Given the description of an element on the screen output the (x, y) to click on. 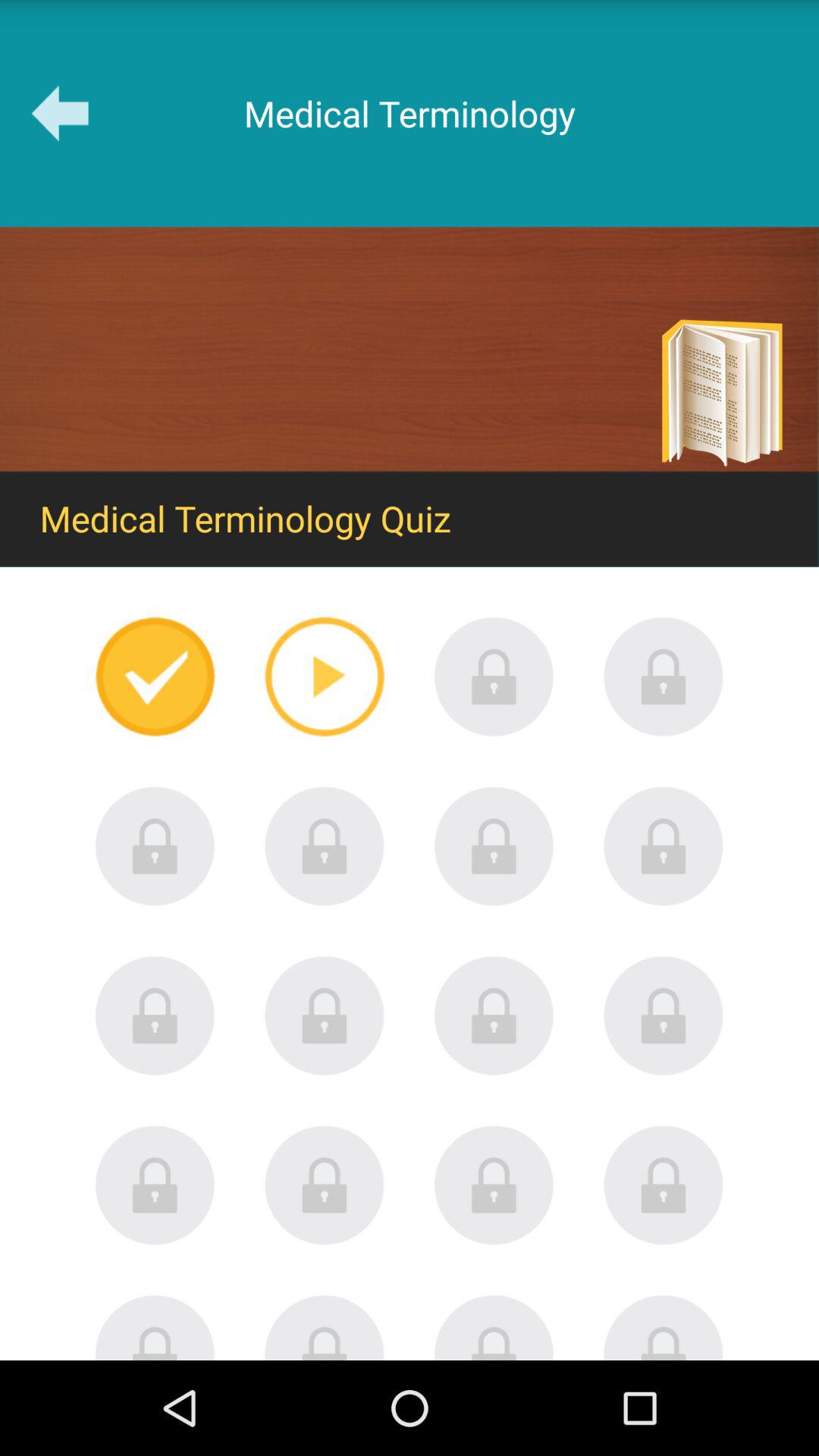
done (154, 676)
